Given the description of an element on the screen output the (x, y) to click on. 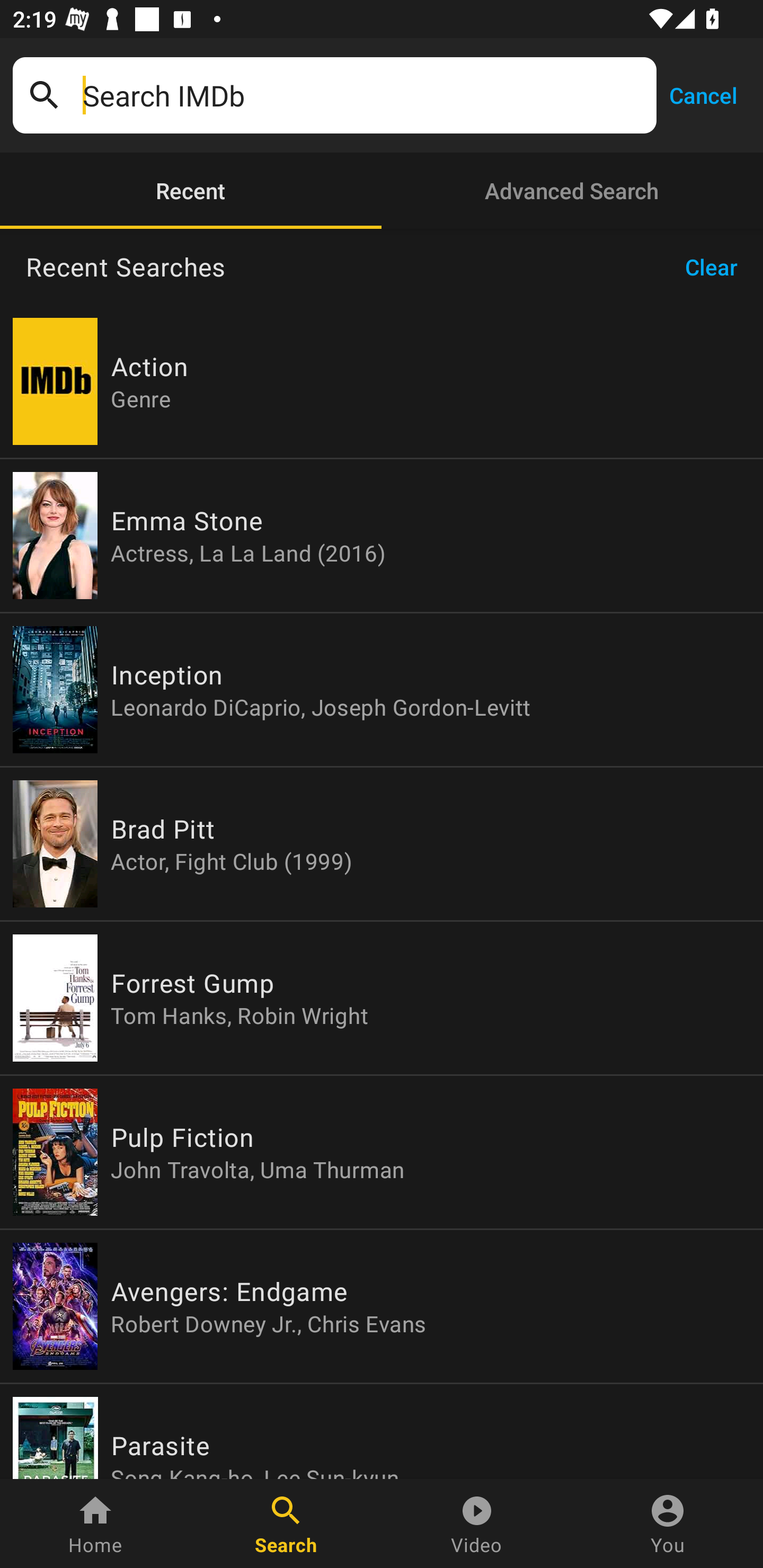
Cancel (703, 94)
Search IMDb (363, 95)
Advanced Search (572, 190)
Clear (717, 266)
Action Genre (381, 381)
Emma Stone Actress, La La Land (2016) (381, 535)
Inception Leonardo DiCaprio, Joseph Gordon-Levitt (381, 689)
Brad Pitt Actor, Fight Club (1999) (381, 844)
Forrest Gump Tom Hanks, Robin Wright (381, 997)
Pulp Fiction John Travolta, Uma Thurman (381, 1151)
Avengers: Endgame Robert Downey Jr., Chris Evans (381, 1305)
Parasite Song Kang-ho, Lee Sun-kyun (381, 1431)
Home (95, 1523)
Video (476, 1523)
You (667, 1523)
